Given the description of an element on the screen output the (x, y) to click on. 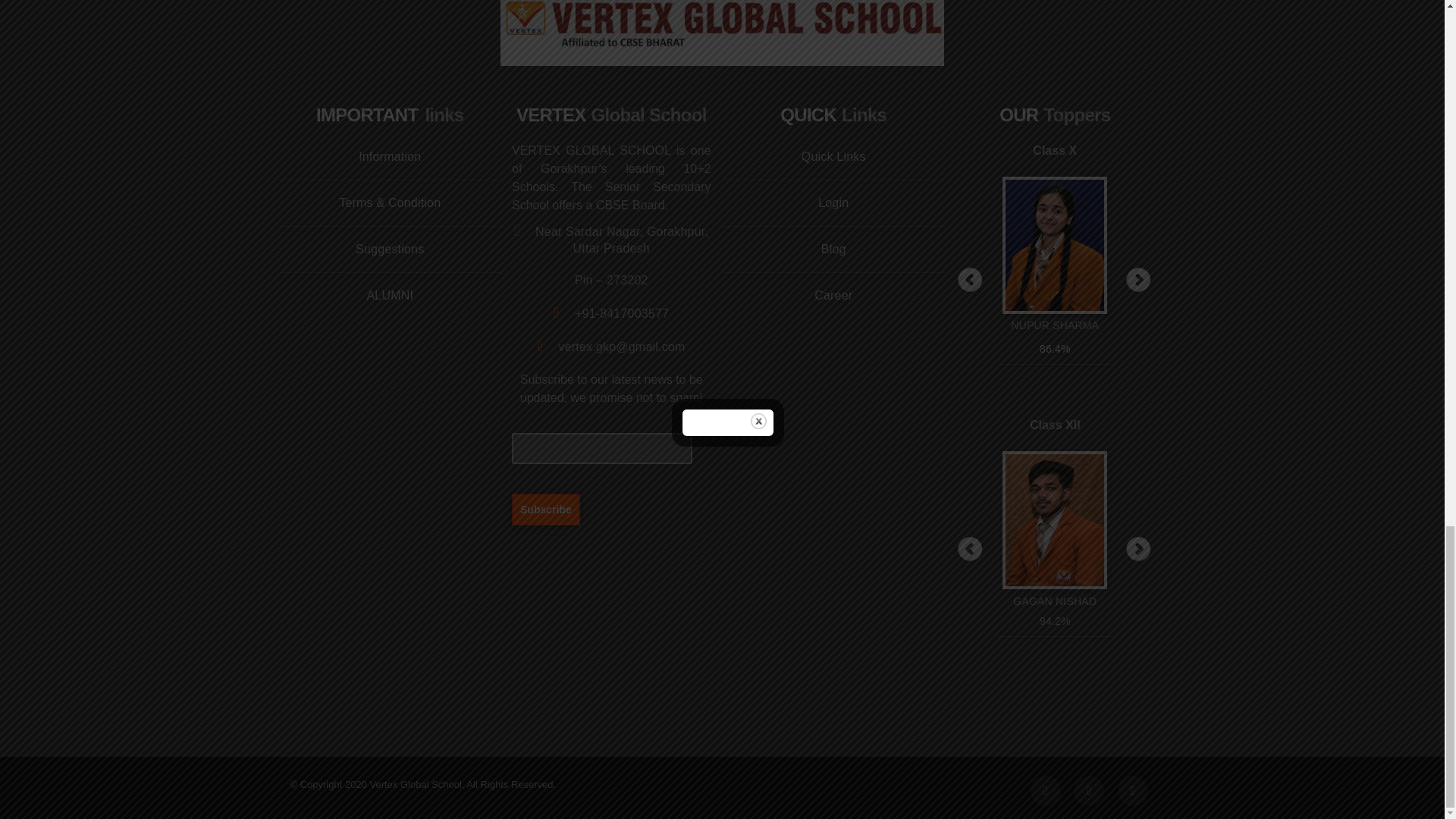
Subscribe (545, 508)
